Given the description of an element on the screen output the (x, y) to click on. 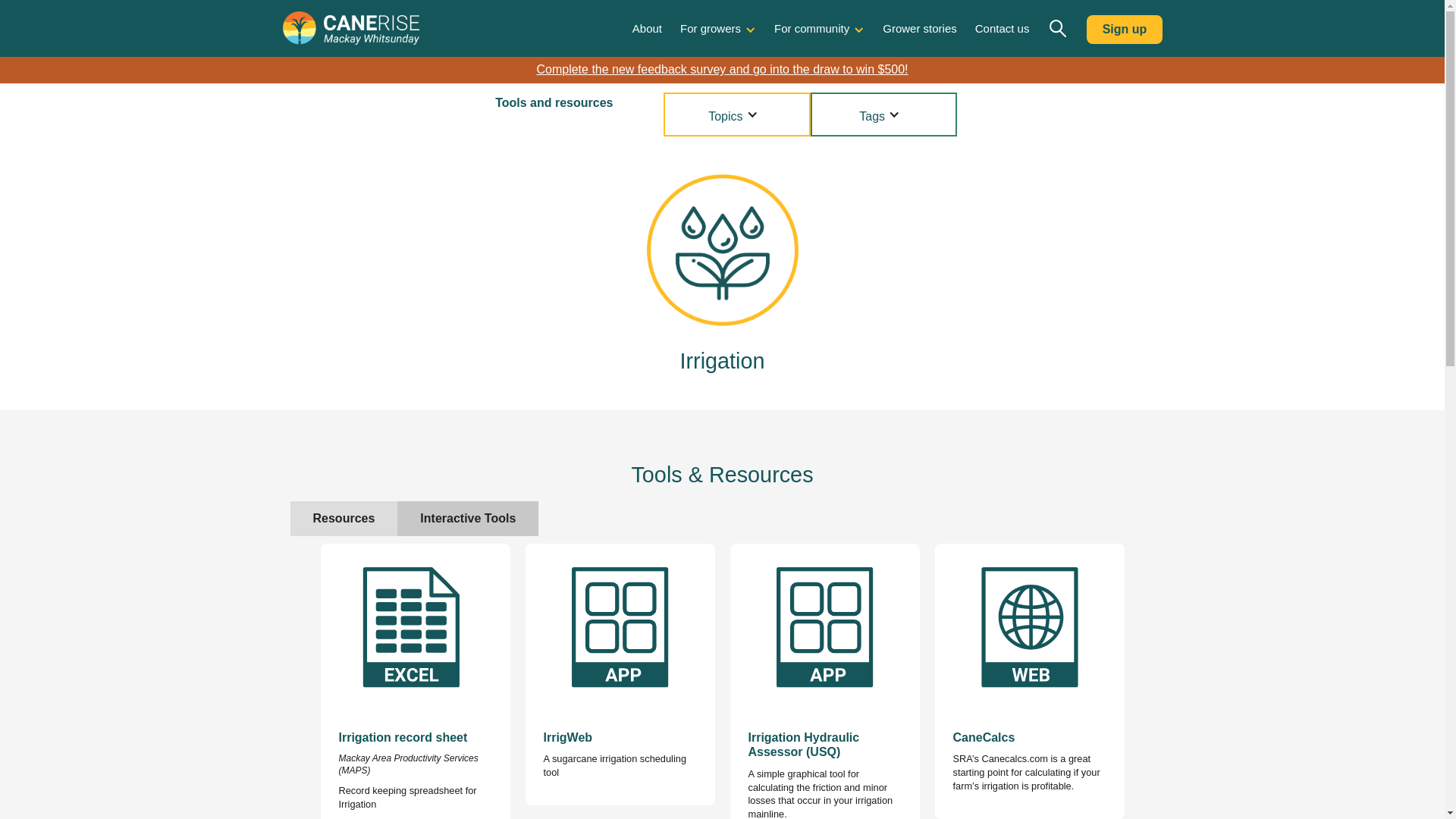
Resources (343, 518)
Grower stories (919, 28)
Contact us (1002, 28)
For growers (710, 28)
Tools and resources (565, 96)
About (647, 28)
Interactive Tools (467, 518)
For community (811, 28)
Sign up (1123, 29)
